Given the description of an element on the screen output the (x, y) to click on. 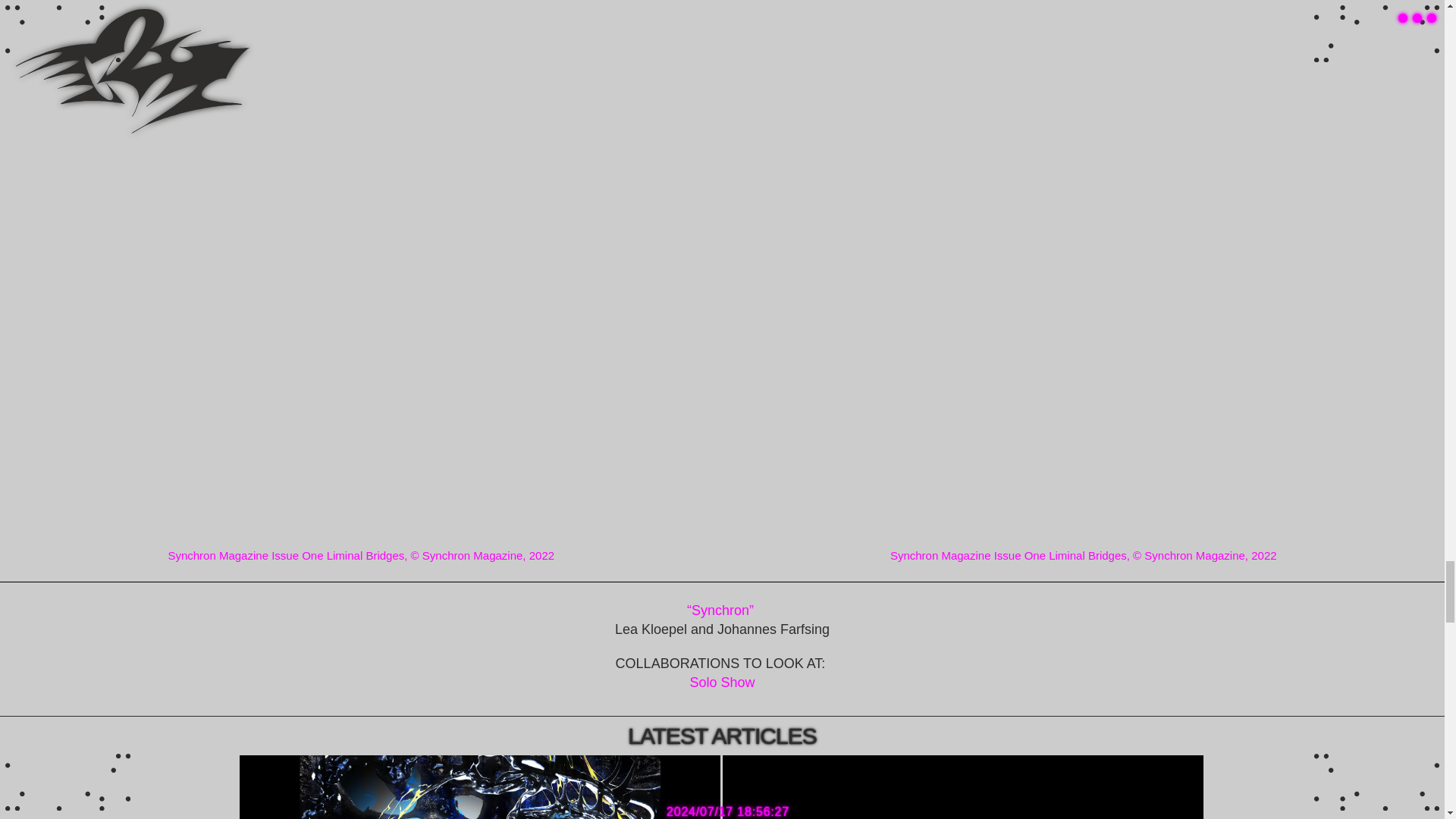
Synchron (720, 610)
Solo Show (721, 682)
